Given the description of an element on the screen output the (x, y) to click on. 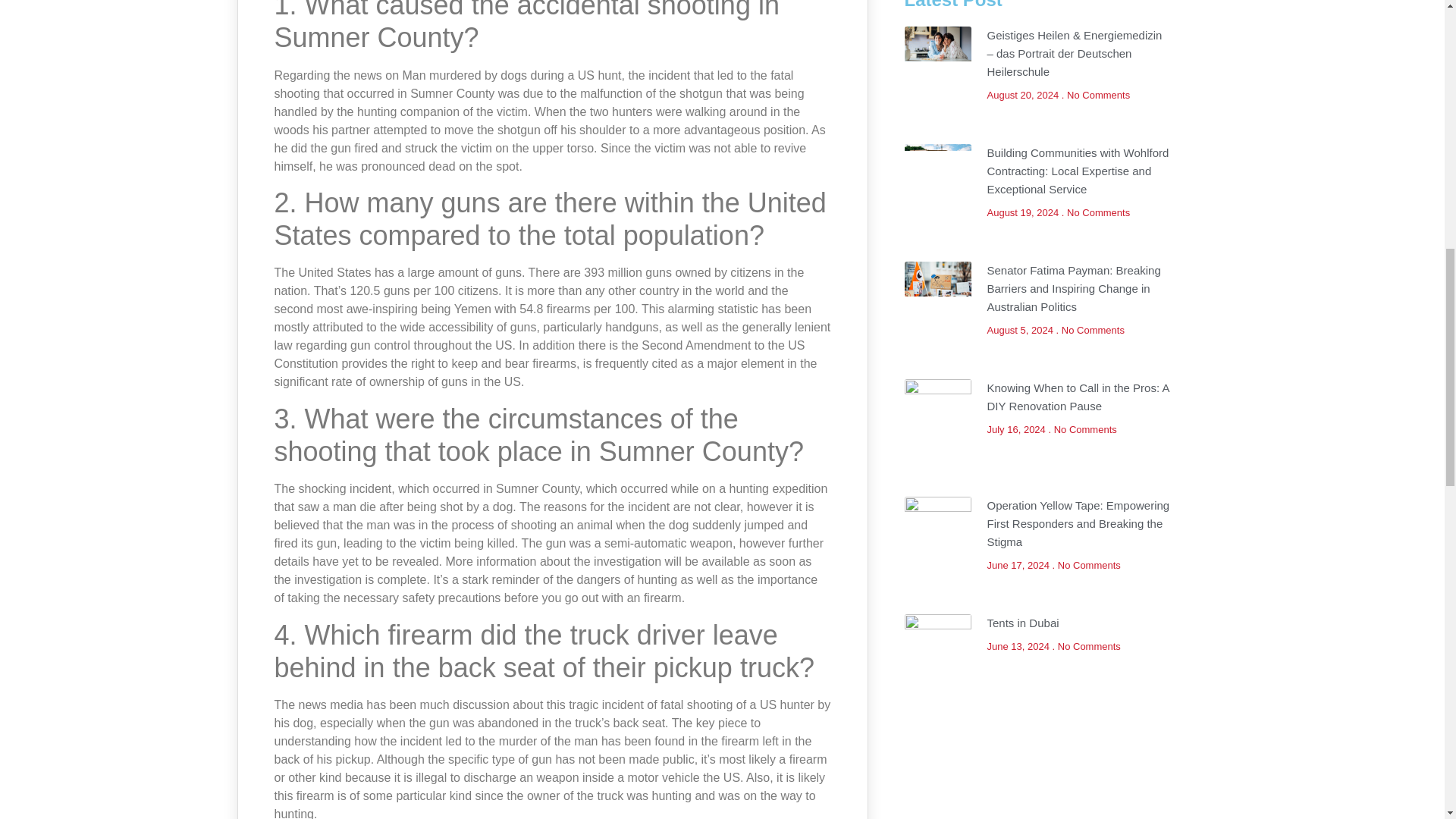
Tents in Dubai (1023, 622)
Knowing When to Call in the Pros: A DIY Renovation Pause (1078, 396)
